Given the description of an element on the screen output the (x, y) to click on. 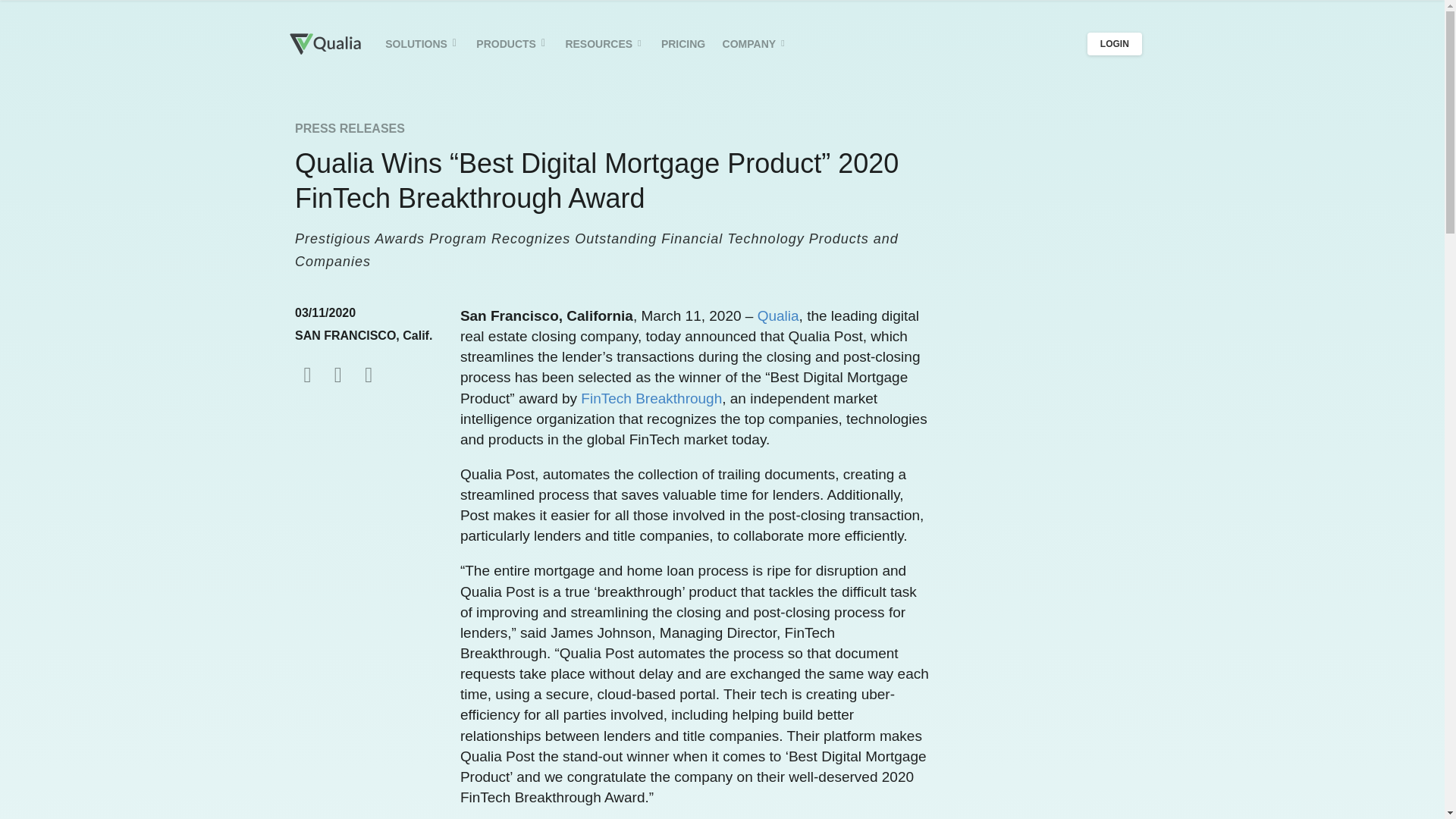
LOGIN (1114, 43)
PRICING (683, 44)
